Given the description of an element on the screen output the (x, y) to click on. 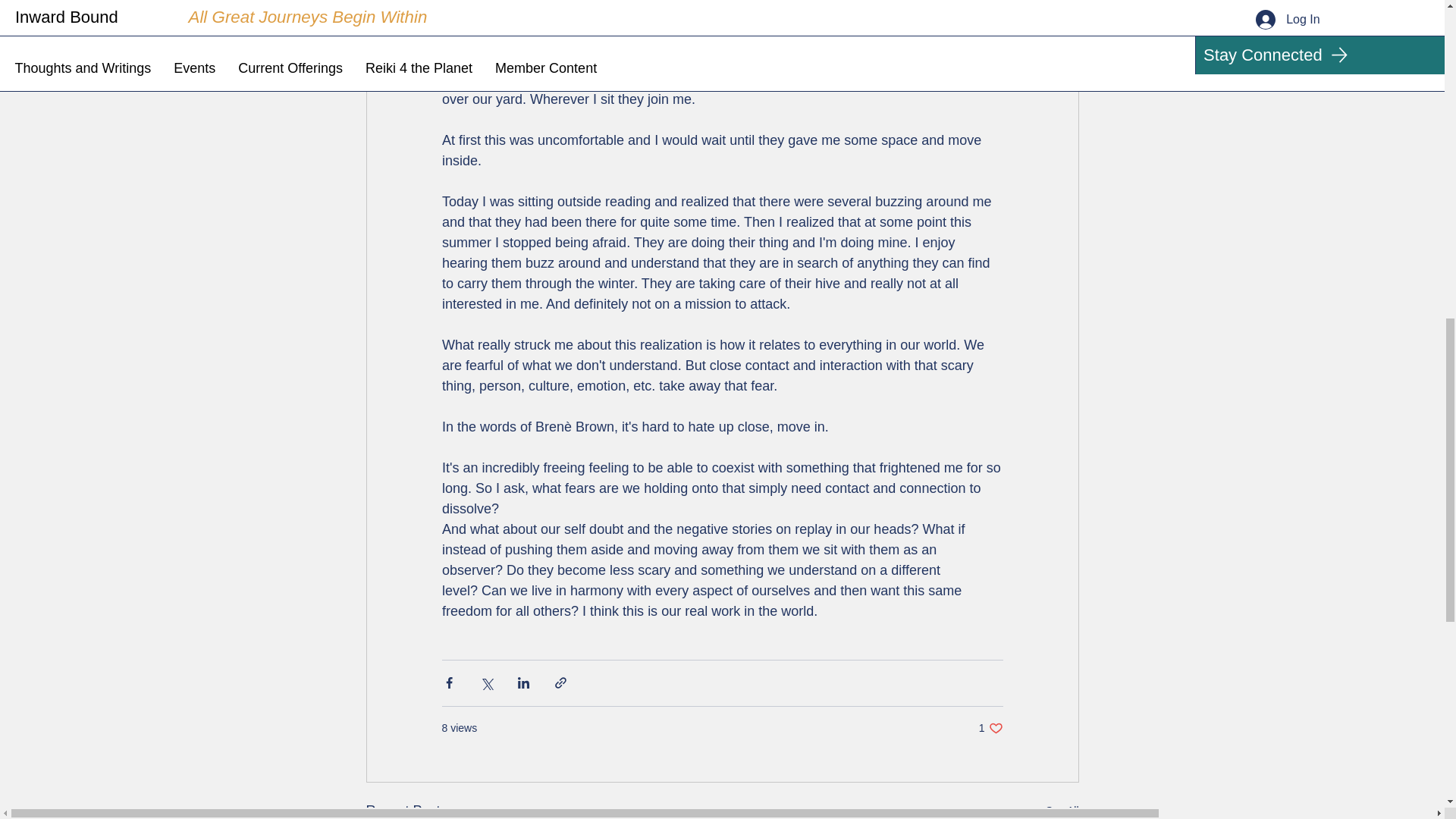
See All (990, 728)
